Given the description of an element on the screen output the (x, y) to click on. 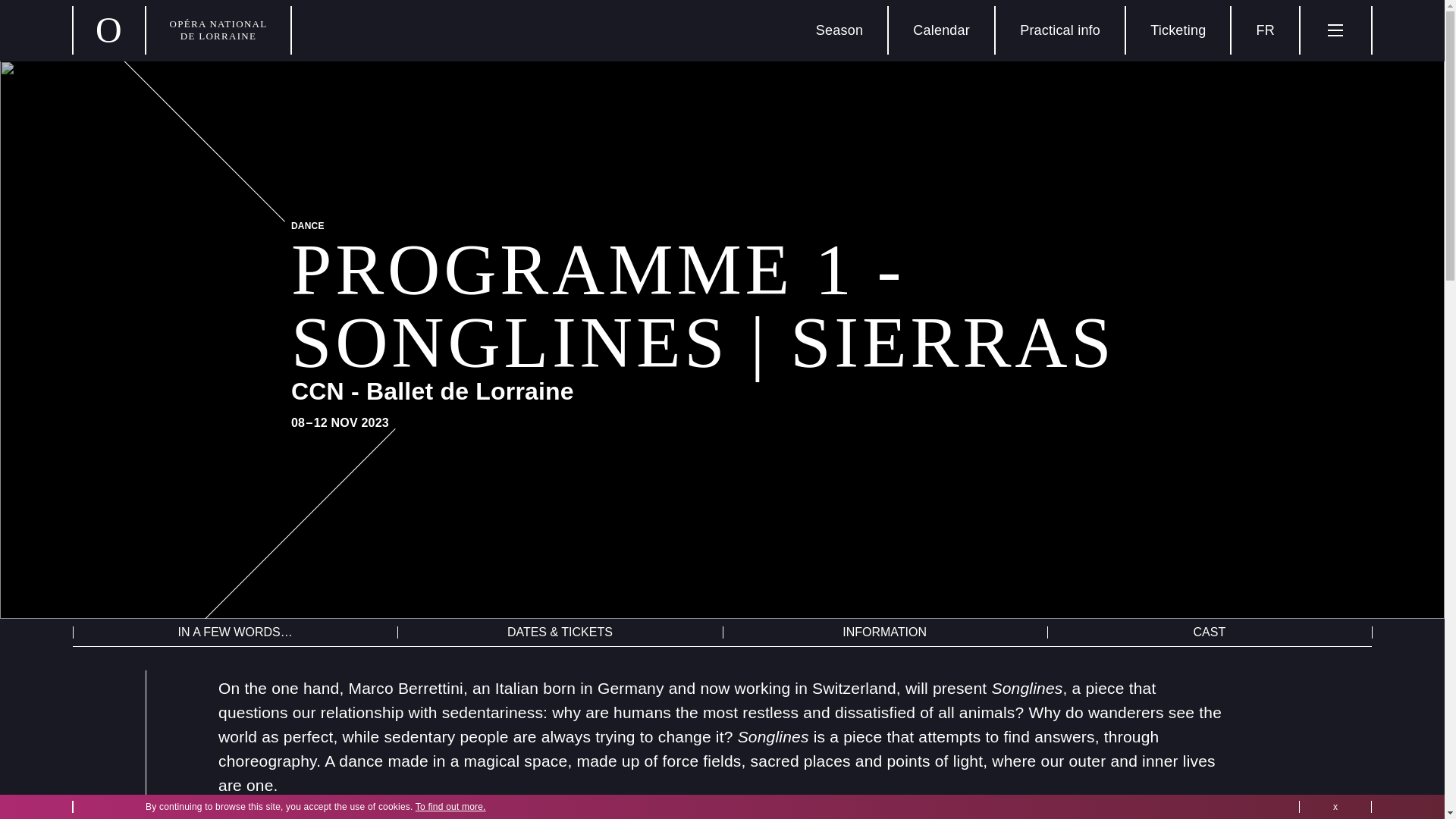
Practical info (1060, 29)
Homepage (181, 29)
Ticketing (1178, 29)
Calendar (941, 29)
Season (840, 29)
FR (1265, 29)
